Given the description of an element on the screen output the (x, y) to click on. 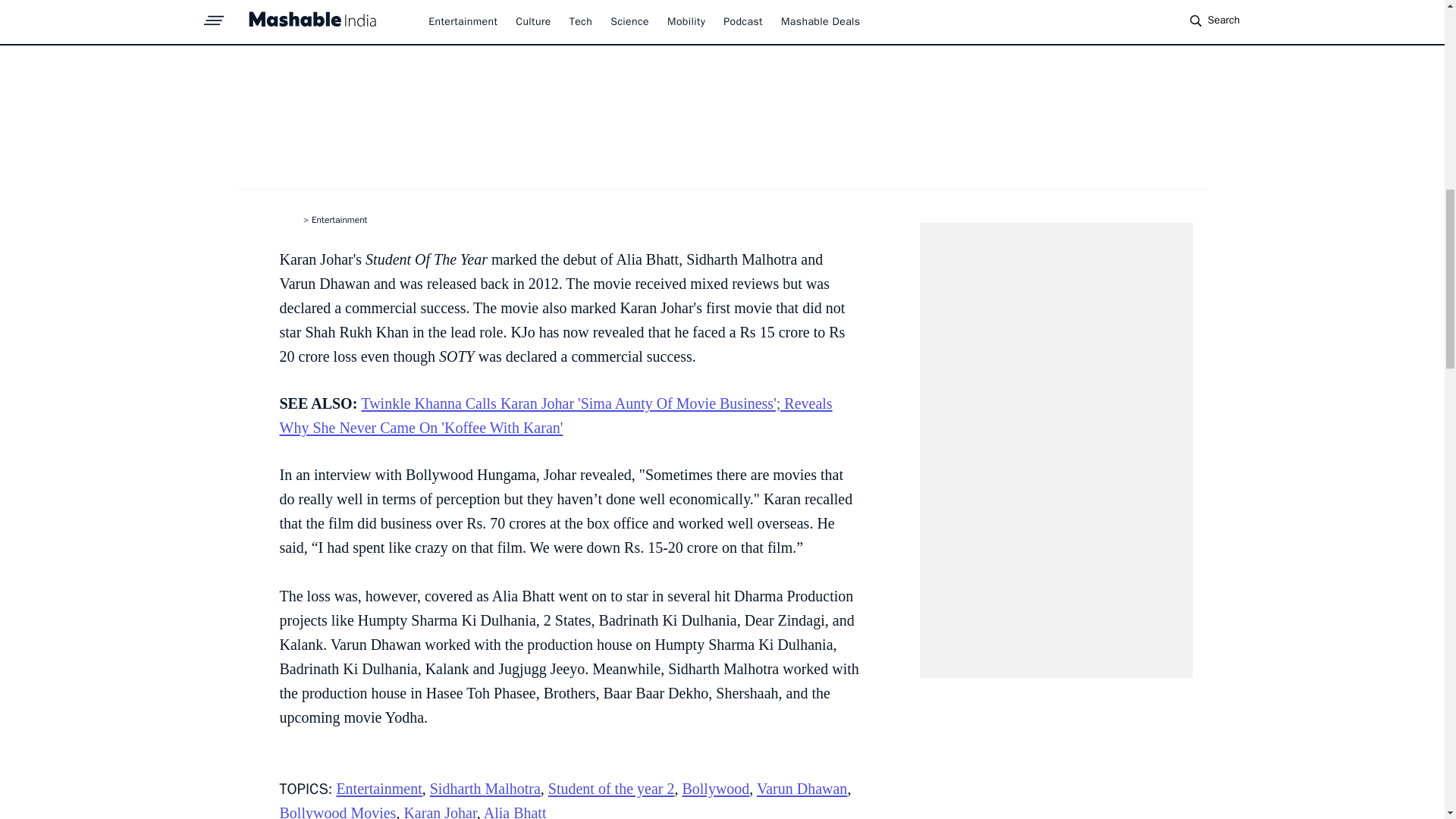
Sidharth Malhotra (484, 788)
Varun Dhawan (802, 788)
Karan Johar (439, 811)
Bollywood (715, 788)
Entertainment (379, 788)
Alia Bhatt (515, 811)
Student of the year 2 (611, 788)
Bollywood Movies (337, 811)
